Given the description of an element on the screen output the (x, y) to click on. 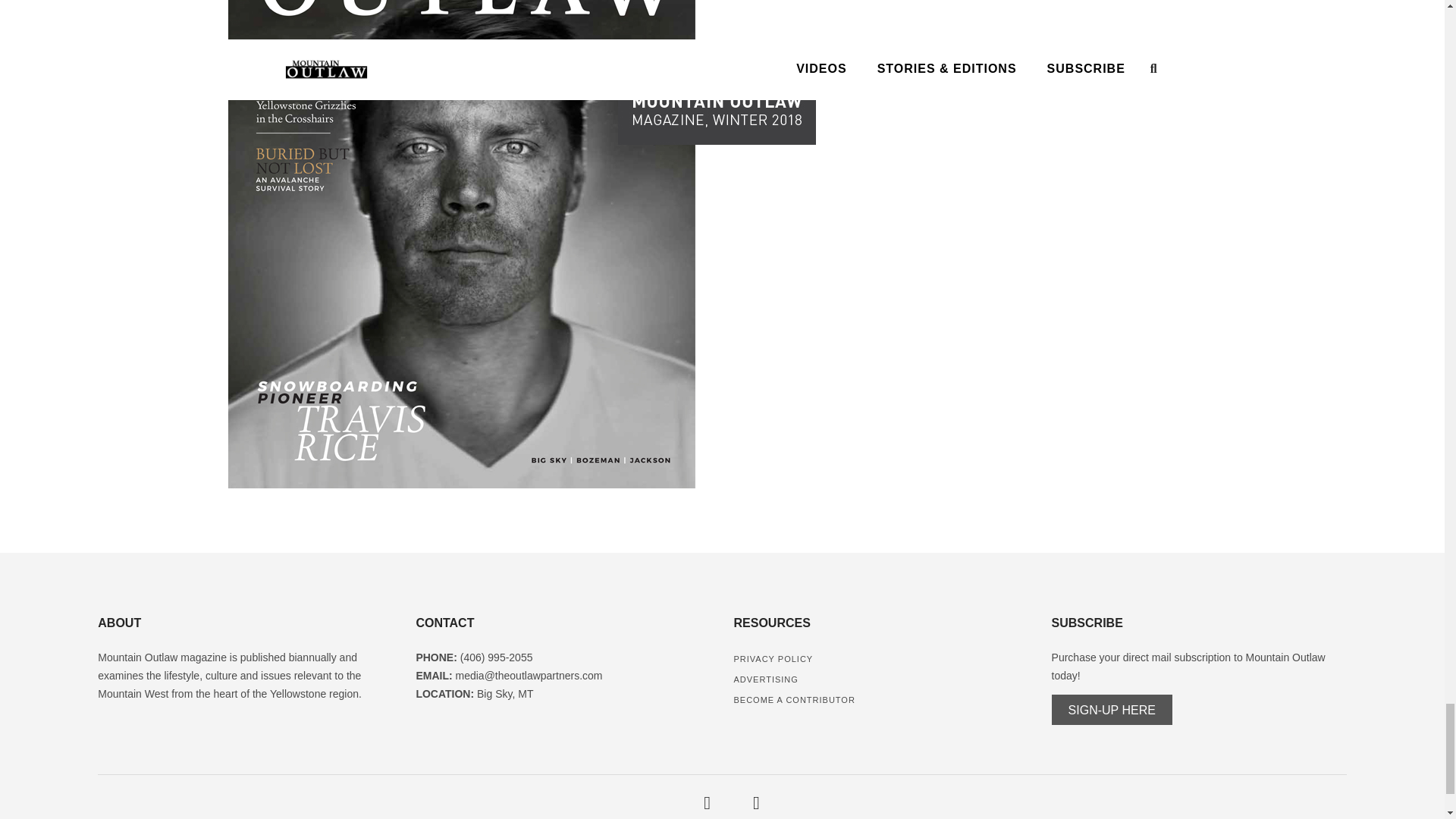
PRIVACY POLICY (772, 658)
BECOME A CONTRIBUTOR (793, 699)
SIGN-UP HERE (1111, 710)
ADVERTISING (765, 678)
